Given the description of an element on the screen output the (x, y) to click on. 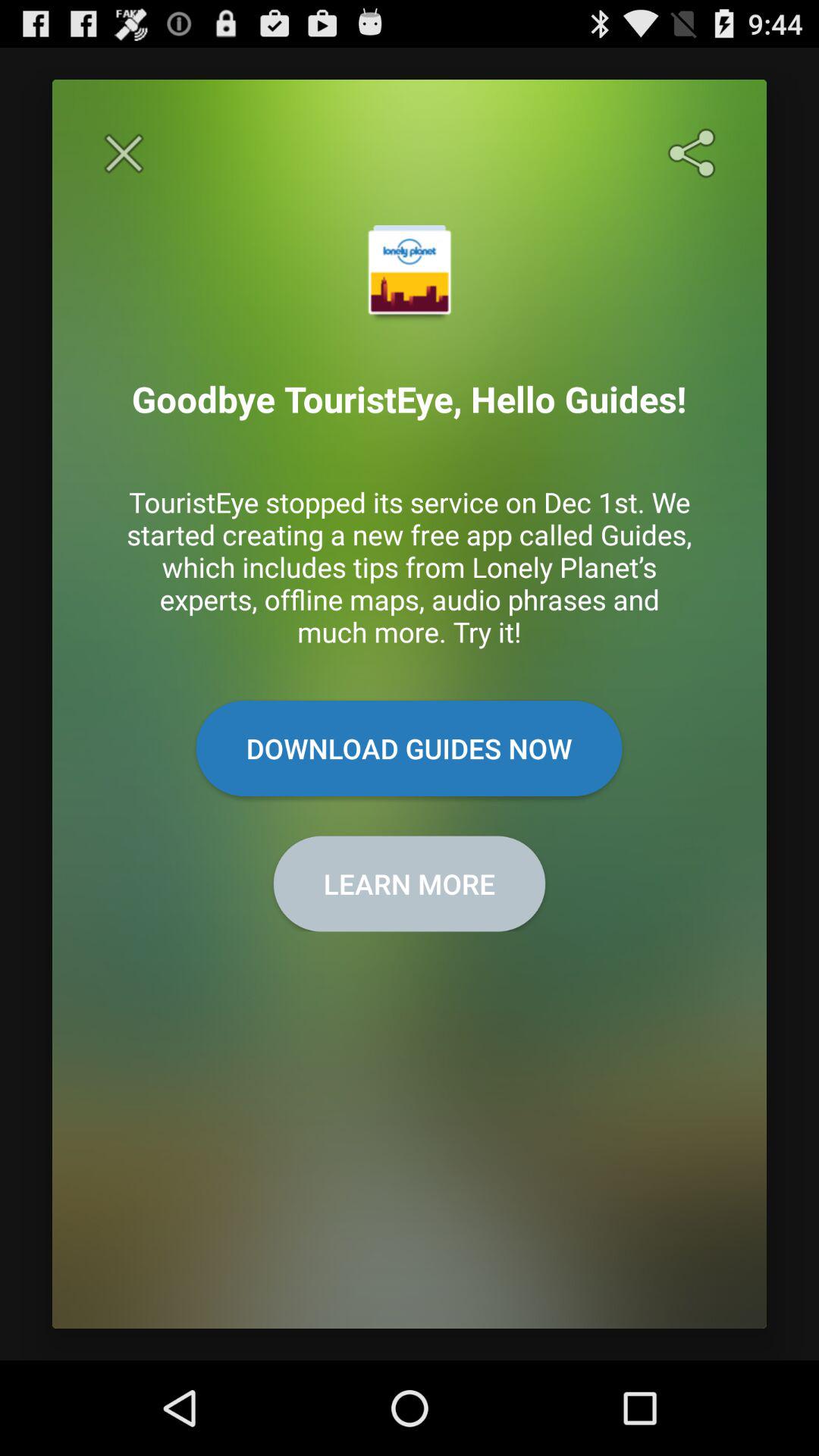
turn off item above learn more (409, 748)
